Given the description of an element on the screen output the (x, y) to click on. 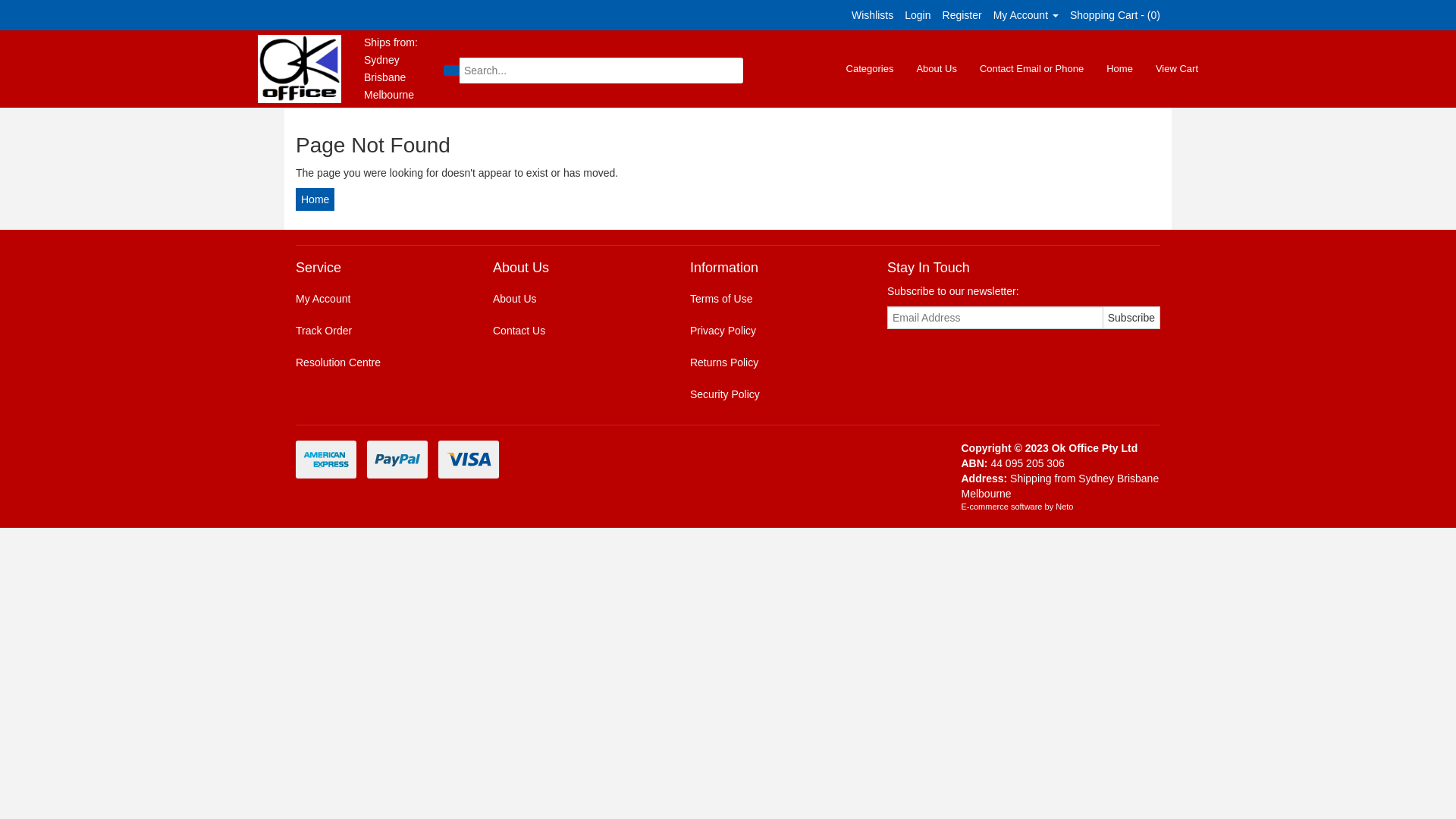
Home Element type: text (314, 199)
Login Element type: text (917, 15)
My Account Element type: text (1025, 15)
Resolution Centre Element type: text (377, 362)
Register Element type: text (962, 15)
About Us Element type: text (935, 68)
Security Policy Element type: text (771, 394)
Track Order Element type: text (377, 330)
Returns Policy Element type: text (771, 362)
About Us Element type: text (574, 298)
Neto Element type: text (1064, 506)
Categories Element type: text (869, 68)
Privacy Policy Element type: text (771, 330)
Terms of Use Element type: text (771, 298)
Contact Us Element type: text (574, 330)
My Account Element type: text (377, 298)
Home Element type: text (1119, 68)
Search Element type: text (451, 70)
View Cart Element type: text (1176, 68)
Contact Email or Phone Element type: text (1031, 68)
Shopping Cart - (0) Element type: text (1115, 15)
Wishlists Element type: text (872, 15)
Subscribe Element type: text (1131, 317)
